Given the description of an element on the screen output the (x, y) to click on. 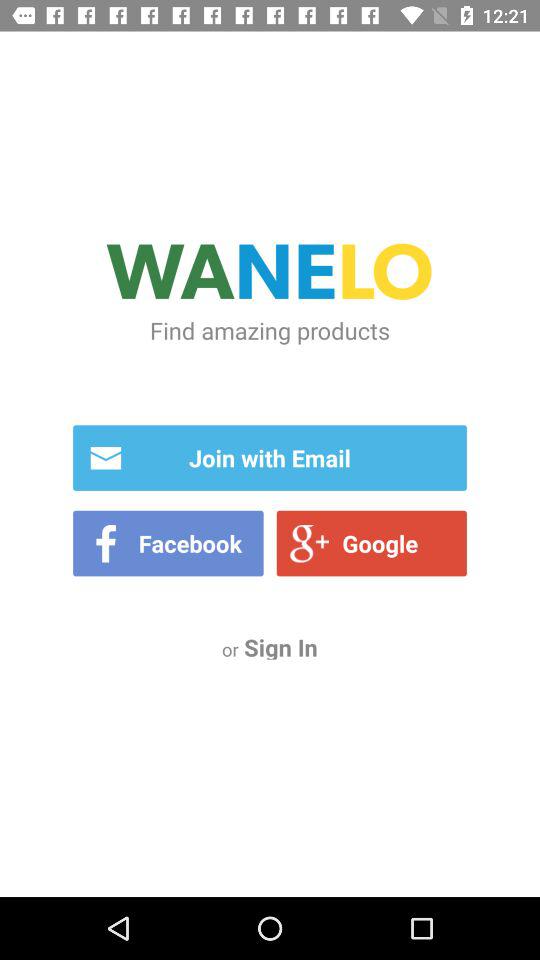
open the wanelo item (269, 274)
